Given the description of an element on the screen output the (x, y) to click on. 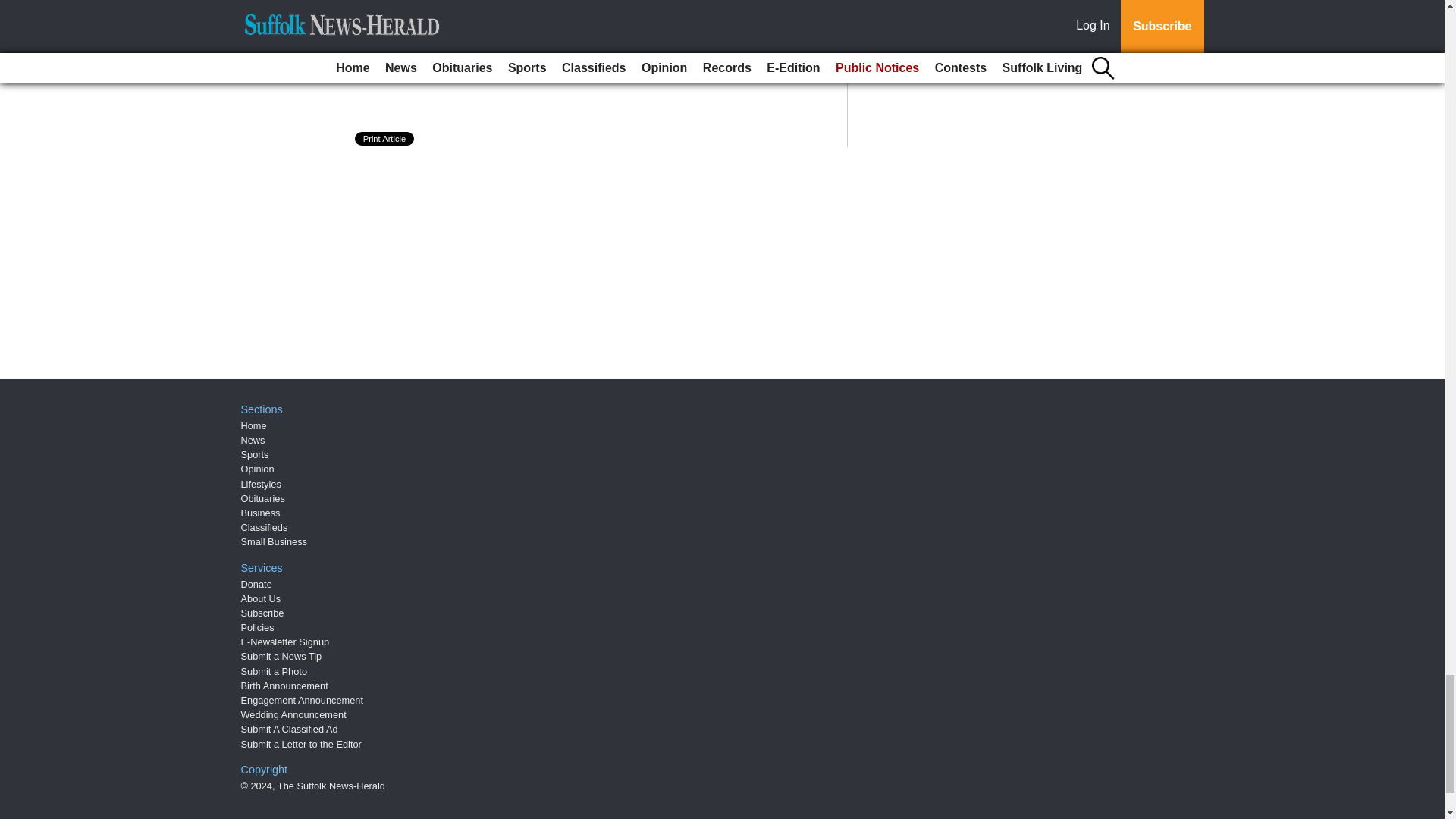
News (252, 439)
Print Article (384, 138)
Opinion (258, 469)
Home (253, 425)
Sports (255, 454)
